Given the description of an element on the screen output the (x, y) to click on. 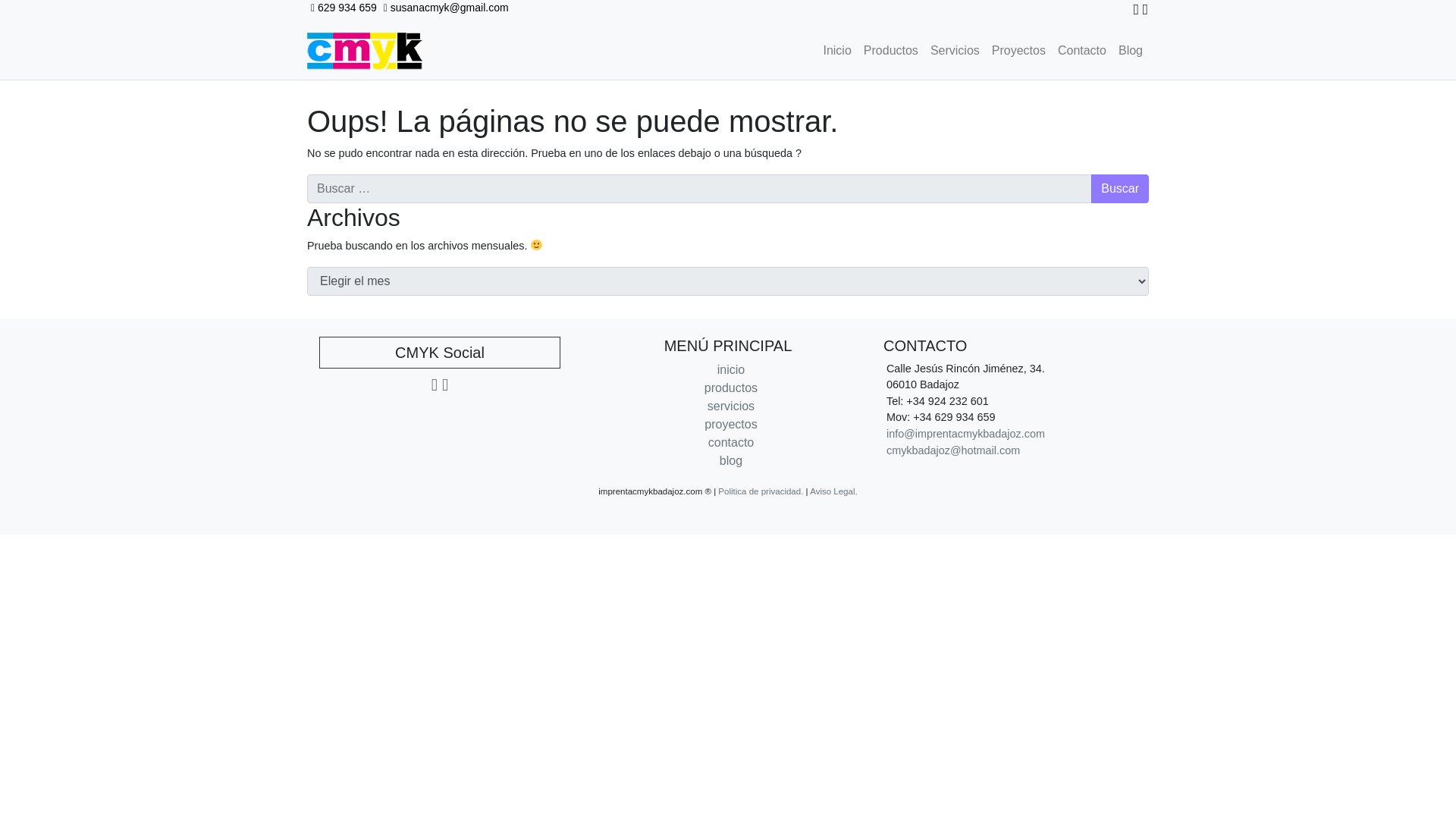
Inicio (836, 51)
Servicios (954, 51)
Servicios (954, 51)
inicio (730, 369)
Proyectos (1018, 51)
Aviso Legal. (833, 491)
servicios (730, 405)
Blog (1130, 51)
proyectos (730, 423)
Buscar (1119, 188)
